Given the description of an element on the screen output the (x, y) to click on. 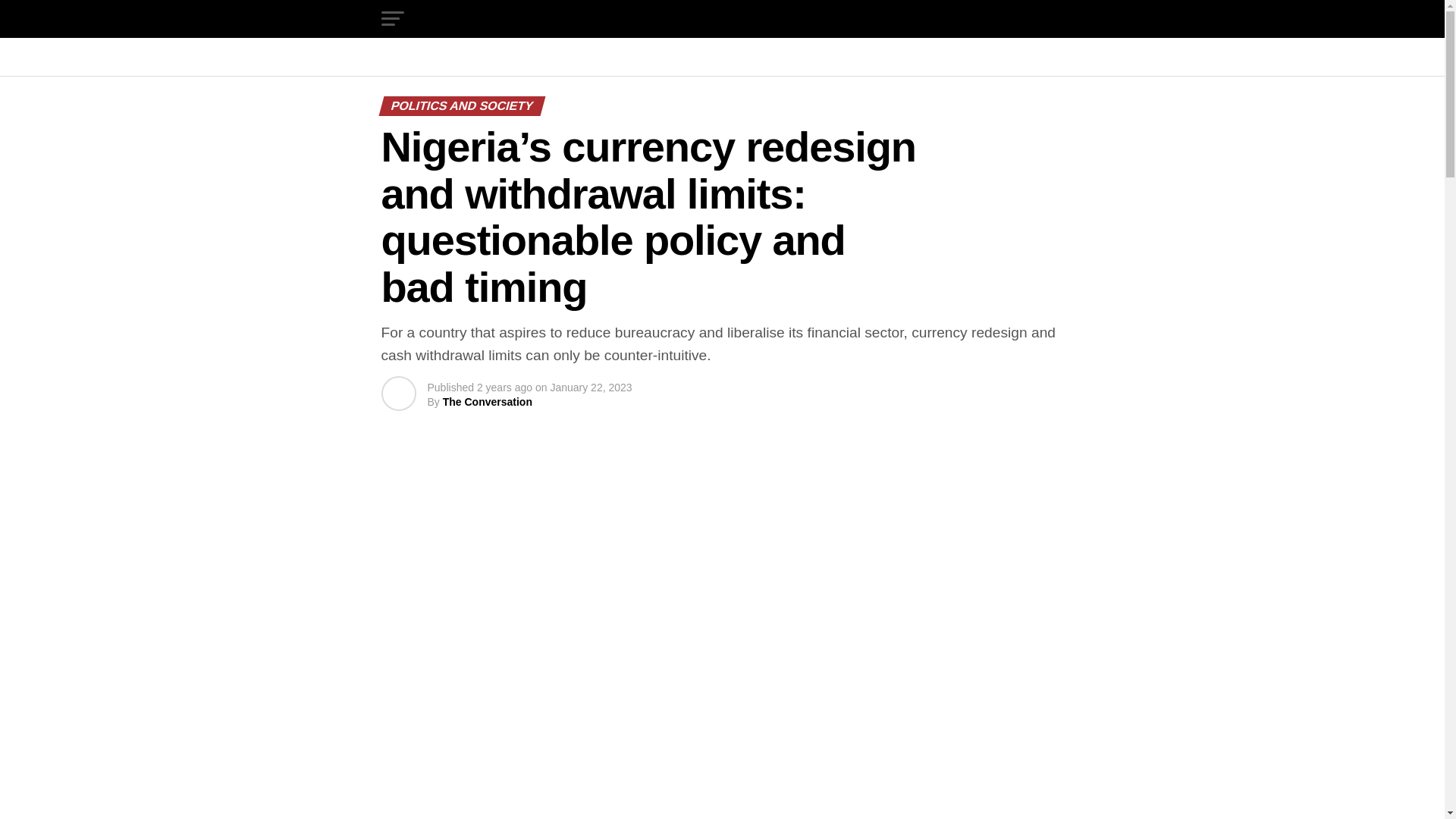
The Conversation (487, 401)
Posts by The Conversation (487, 401)
